Given the description of an element on the screen output the (x, y) to click on. 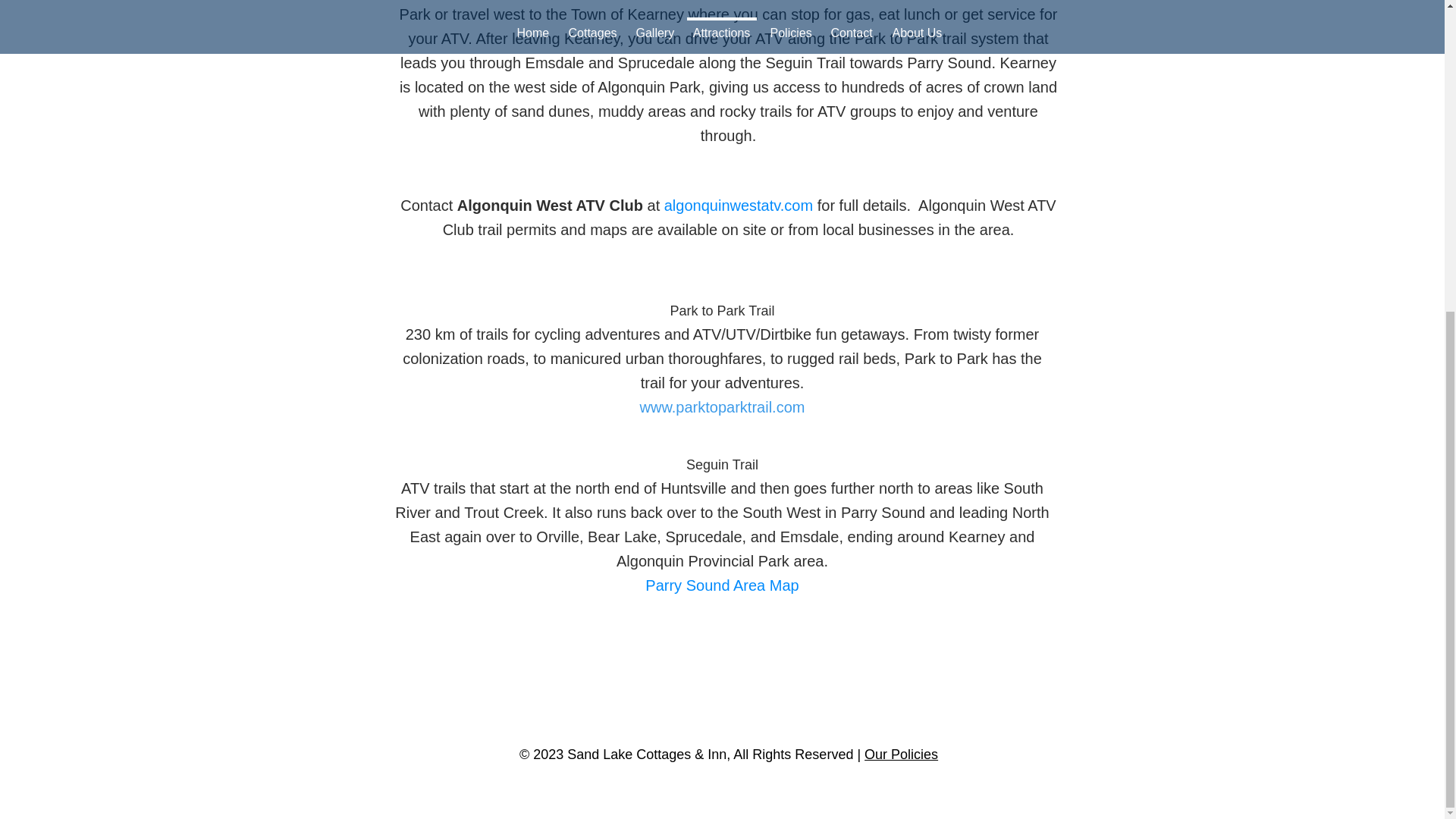
Our Policies (900, 754)
Parry Sound Area Map (721, 585)
www.parktoparktrail.com (722, 406)
algonquinwestatv.com (737, 205)
